Given the description of an element on the screen output the (x, y) to click on. 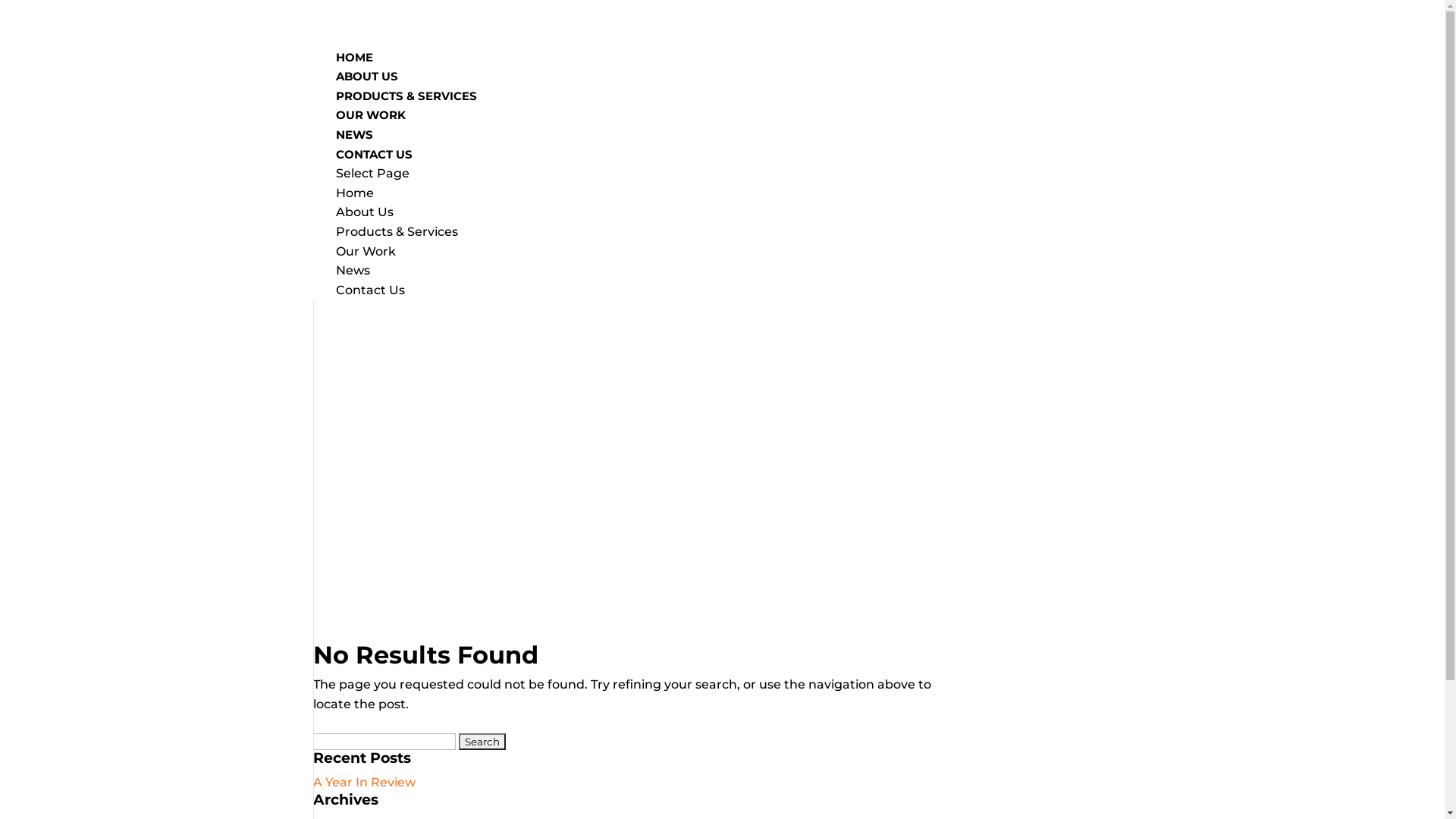
ABOUT US Element type: text (366, 90)
Search Element type: text (481, 740)
Our Work Element type: text (365, 251)
Contact Us Element type: text (369, 289)
About Us Element type: text (363, 211)
A Year In Review Element type: text (363, 782)
HOME Element type: text (353, 71)
NEWS Element type: text (353, 148)
CONTACT US Element type: text (373, 168)
Products & Services Element type: text (396, 231)
News Element type: text (352, 270)
OUR WORK Element type: text (369, 128)
PRODUCTS & SERVICES Element type: text (405, 109)
Home Element type: text (354, 192)
